Given the description of an element on the screen output the (x, y) to click on. 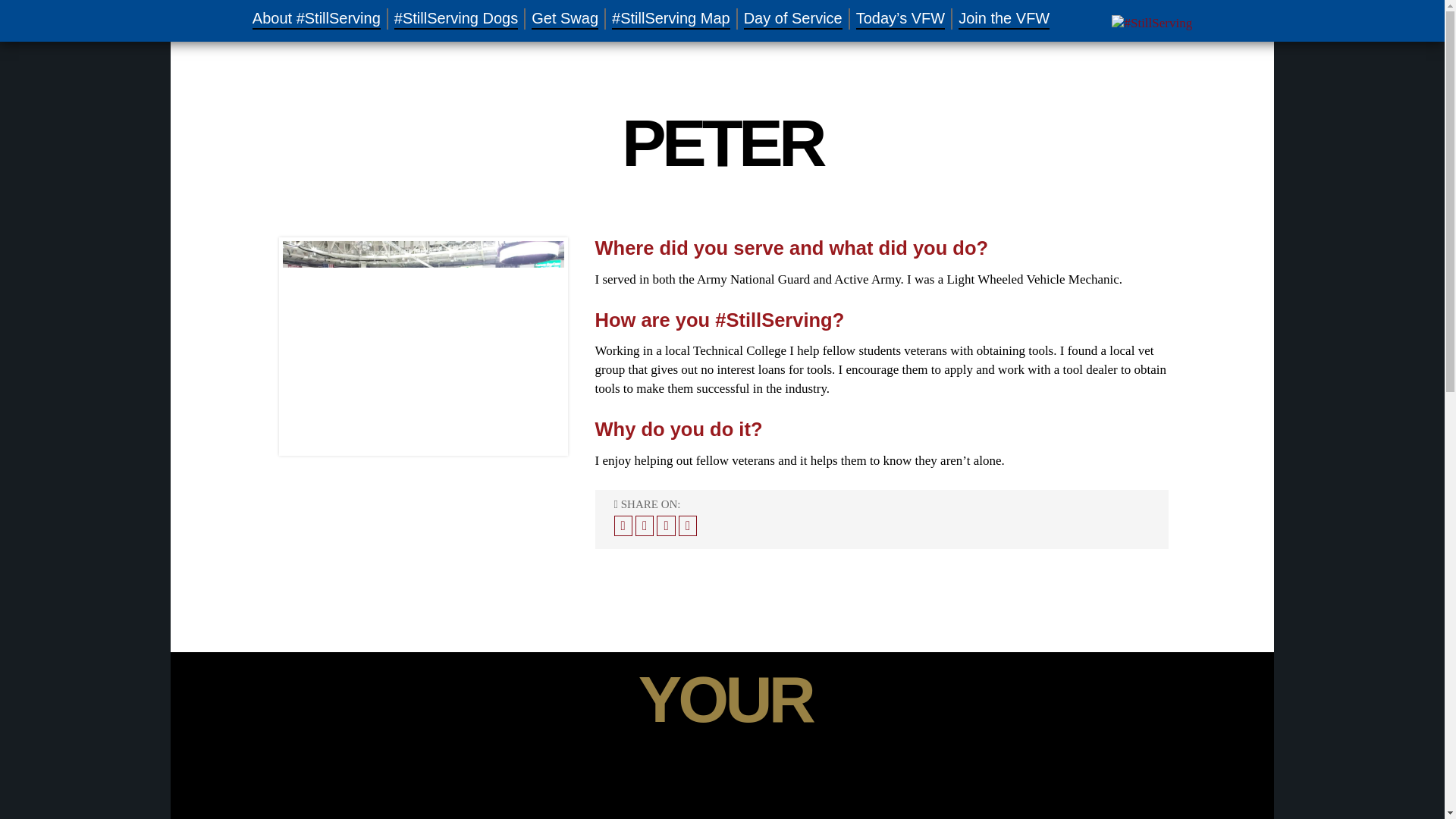
Get Swag (564, 18)
Join the VFW (1003, 18)
Day of Service (793, 18)
